Given the description of an element on the screen output the (x, y) to click on. 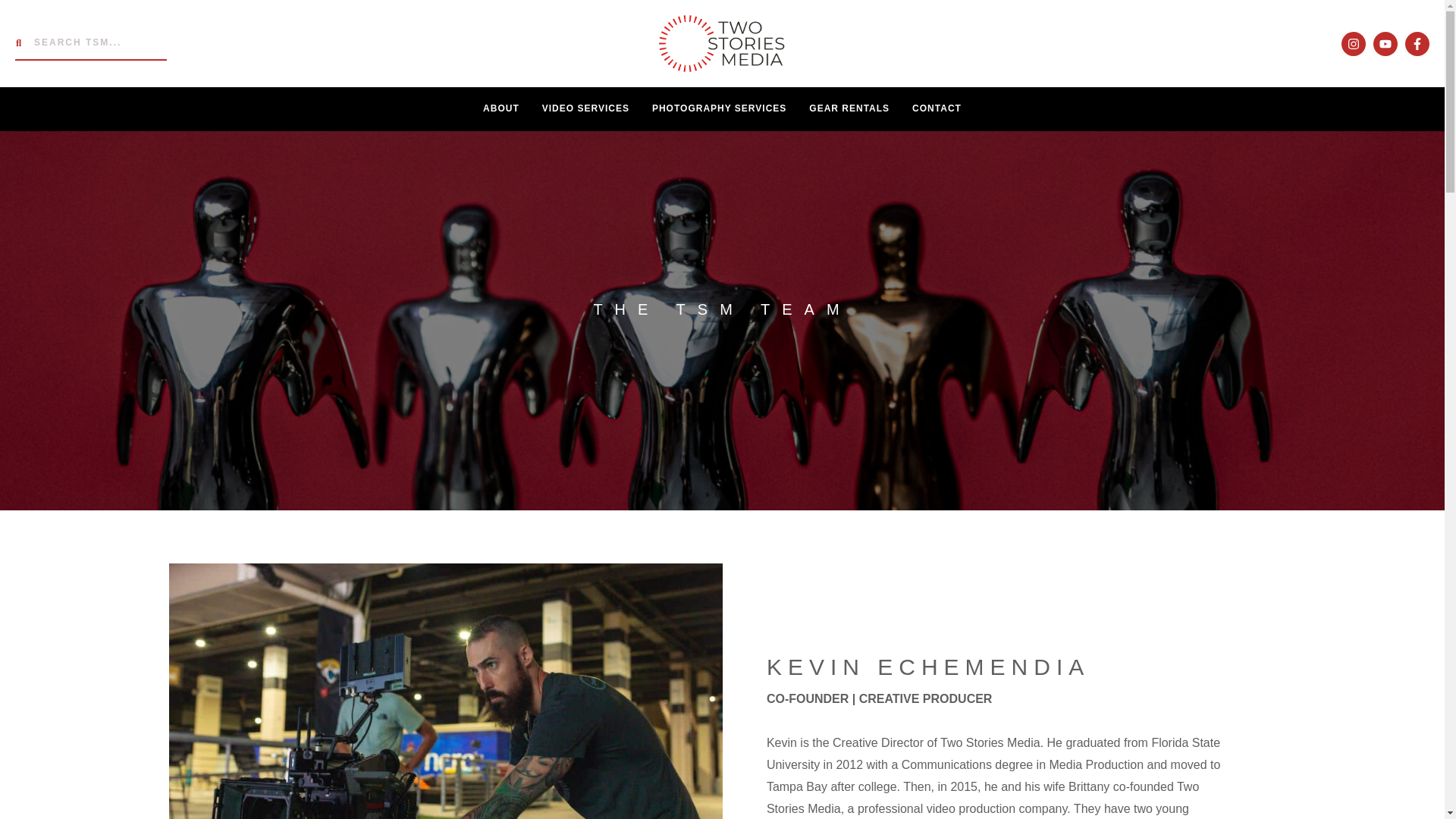
VIDEO SERVICES (585, 108)
ABOUT (501, 108)
GEAR RENTALS (849, 108)
PHOTOGRAPHY SERVICES (718, 108)
CONTACT (936, 108)
